Given the description of an element on the screen output the (x, y) to click on. 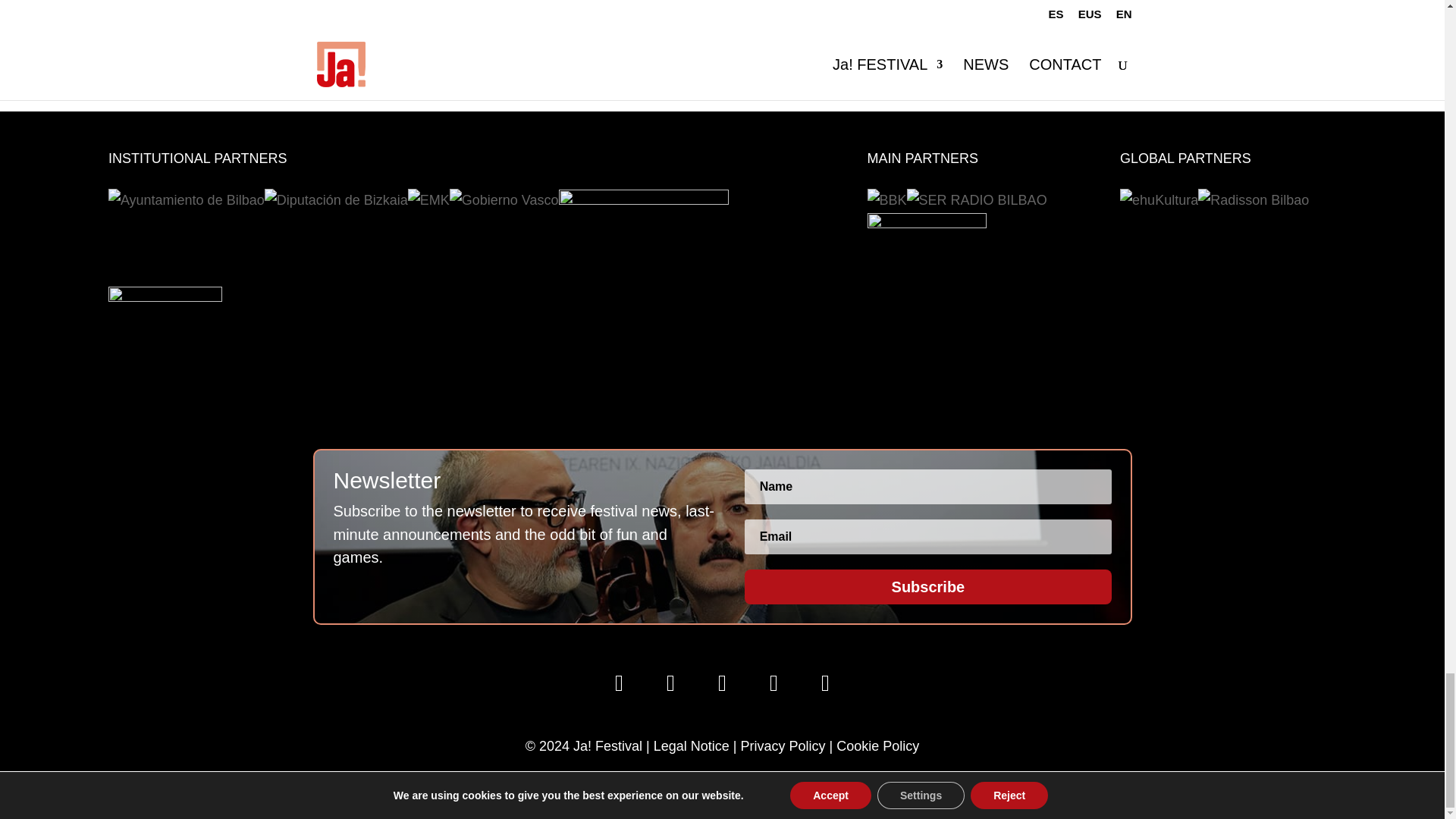
Follow on iTunes (824, 682)
Follow on Spotify (773, 682)
Follow on Youtube (721, 682)
Legal Notice (691, 745)
Subscribe (927, 586)
Privacy Policy (782, 745)
Follow on Instagram (670, 682)
Cookie Policy (876, 745)
Follow on X (618, 682)
